Given the description of an element on the screen output the (x, y) to click on. 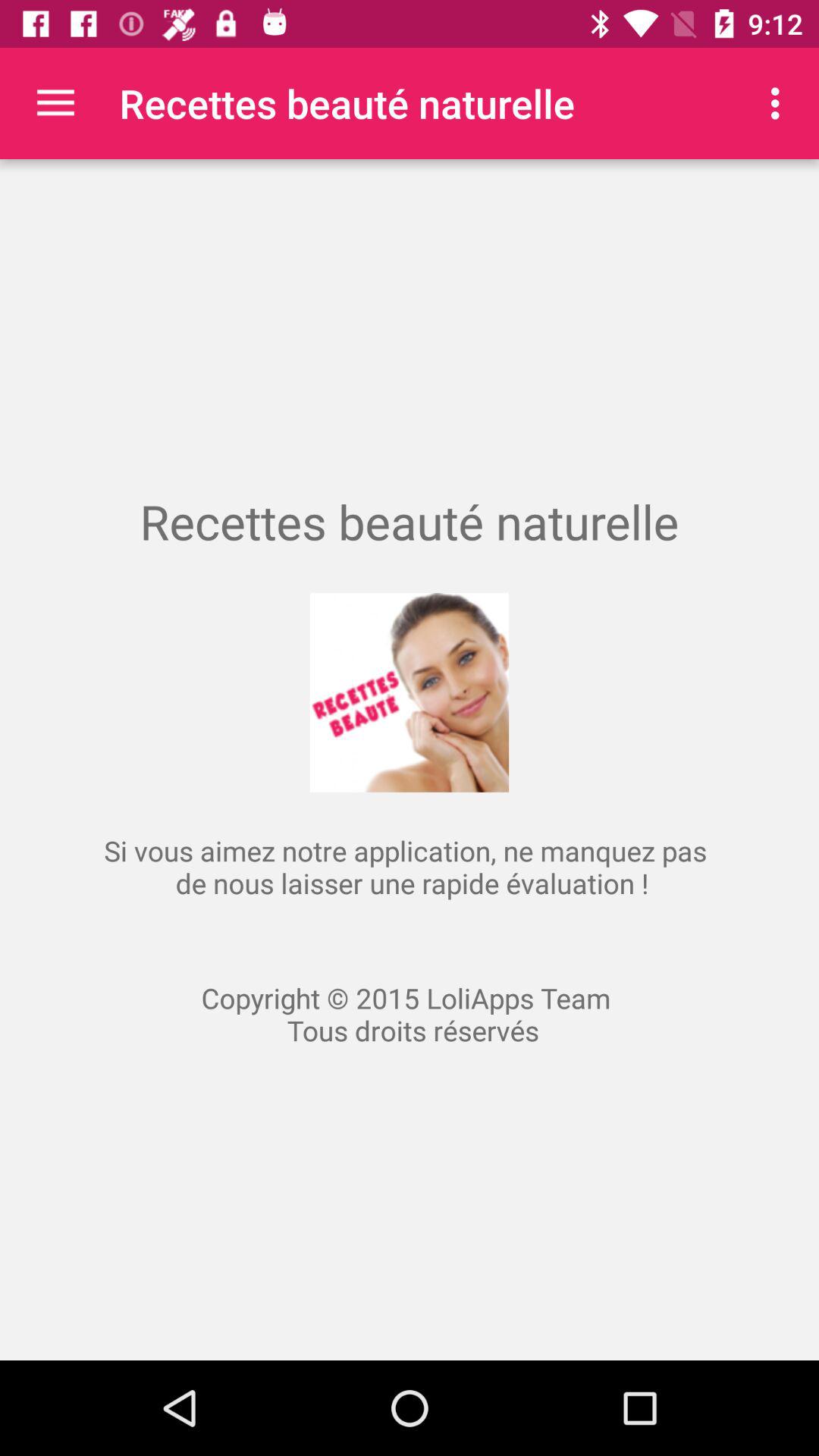
press the icon at the top right corner (779, 103)
